Given the description of an element on the screen output the (x, y) to click on. 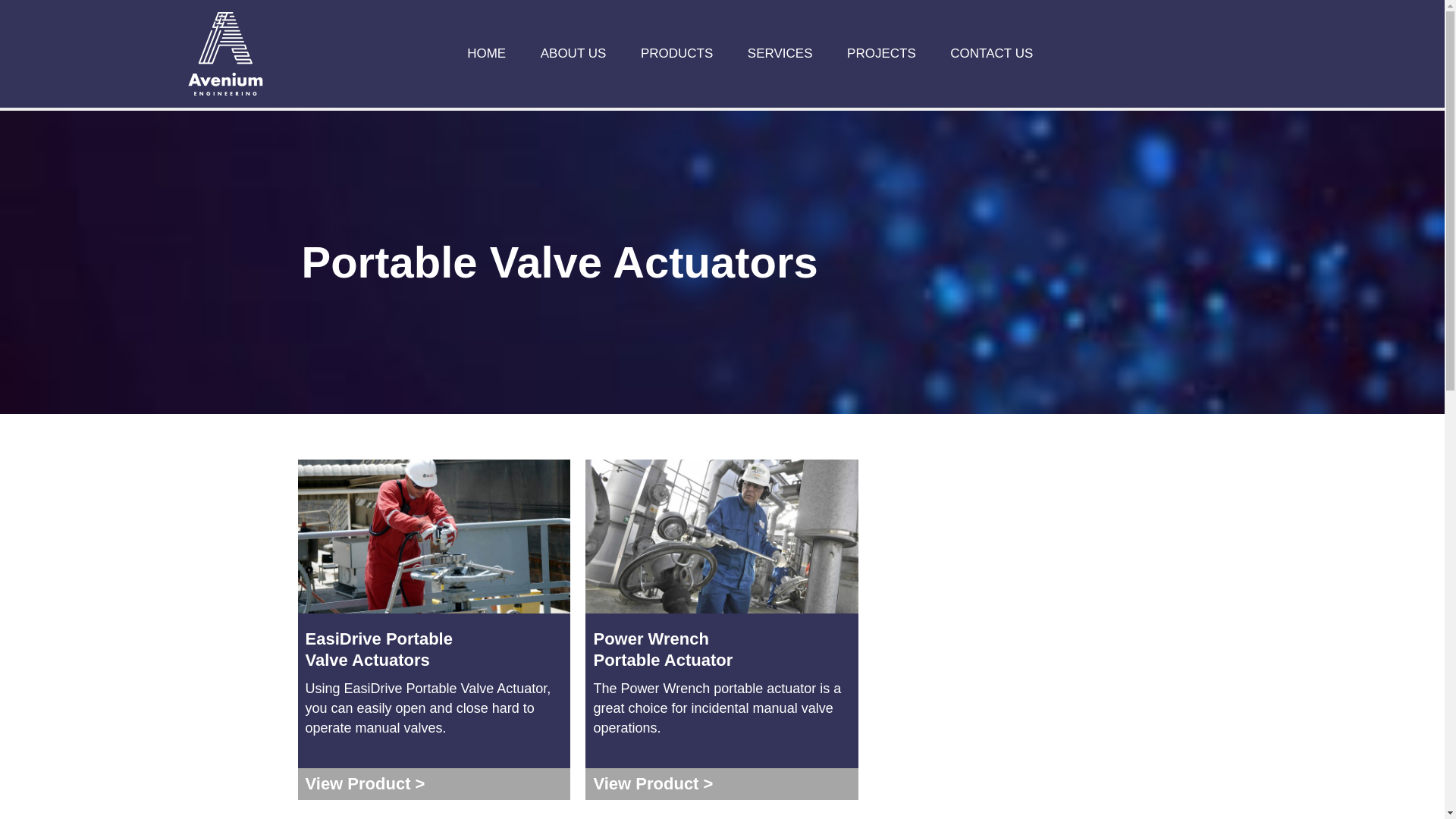
ABOUT US (573, 53)
CONTACT US (991, 53)
Avenium Engineering (225, 52)
HOME (486, 53)
PROJECTS (881, 53)
PRODUCTS (676, 53)
SERVICES (780, 53)
